Given the description of an element on the screen output the (x, y) to click on. 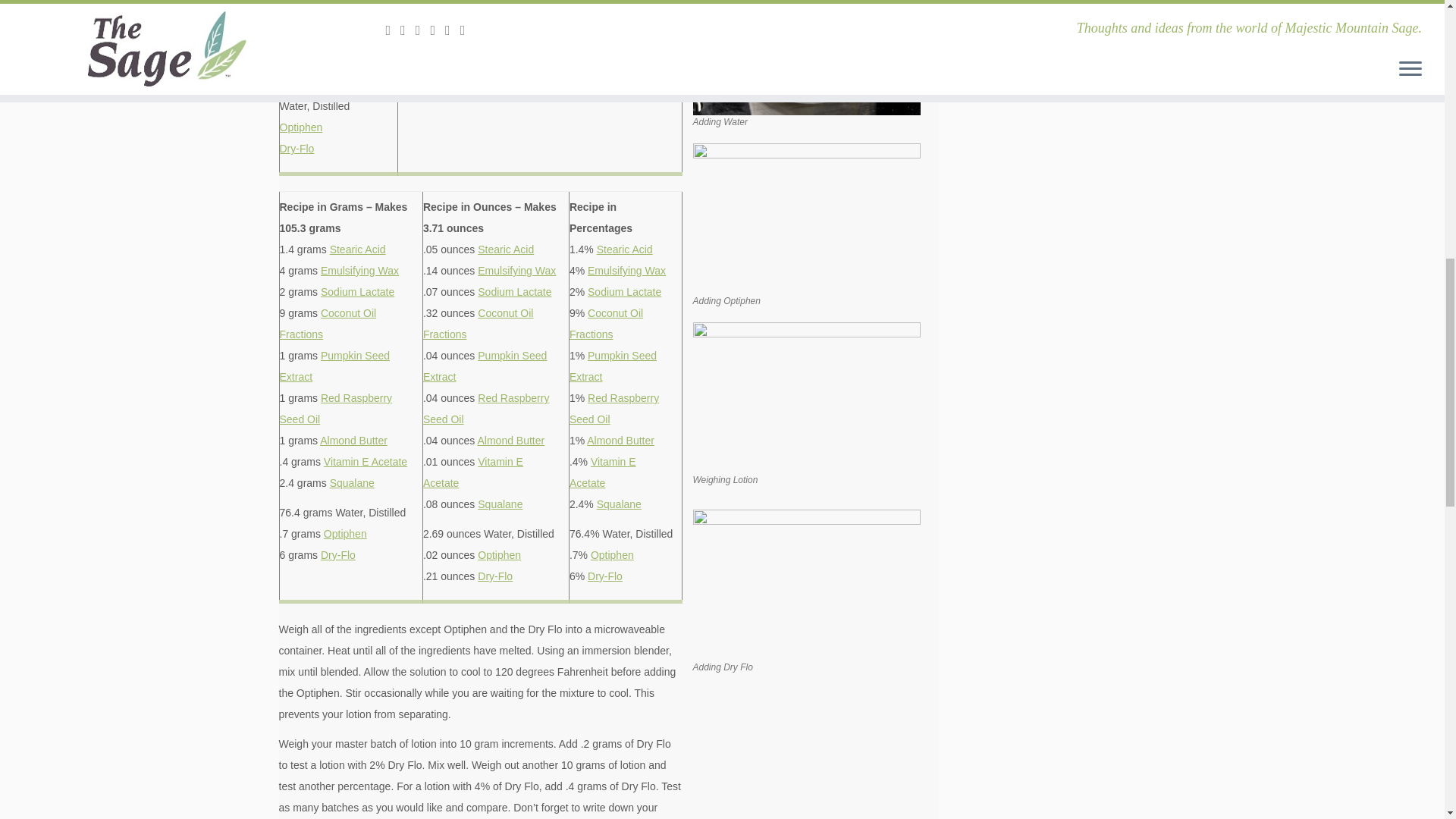
Sodium Lactate (357, 291)
Red Raspberry Seed Oil (328, 9)
Optiphen (300, 127)
Dry-Flo (296, 148)
Pumpkin Seed Extract (334, 366)
Squalane (352, 482)
Almond Butter (353, 440)
Red Raspberry Seed Oil (335, 408)
Coconut Oil Fractions (327, 323)
Stearic Acid (357, 249)
Vitamin E Acetate (365, 461)
Squalane (301, 76)
Almond Butter (312, 33)
Emulsifying Wax (359, 270)
Optiphen (344, 533)
